Given the description of an element on the screen output the (x, y) to click on. 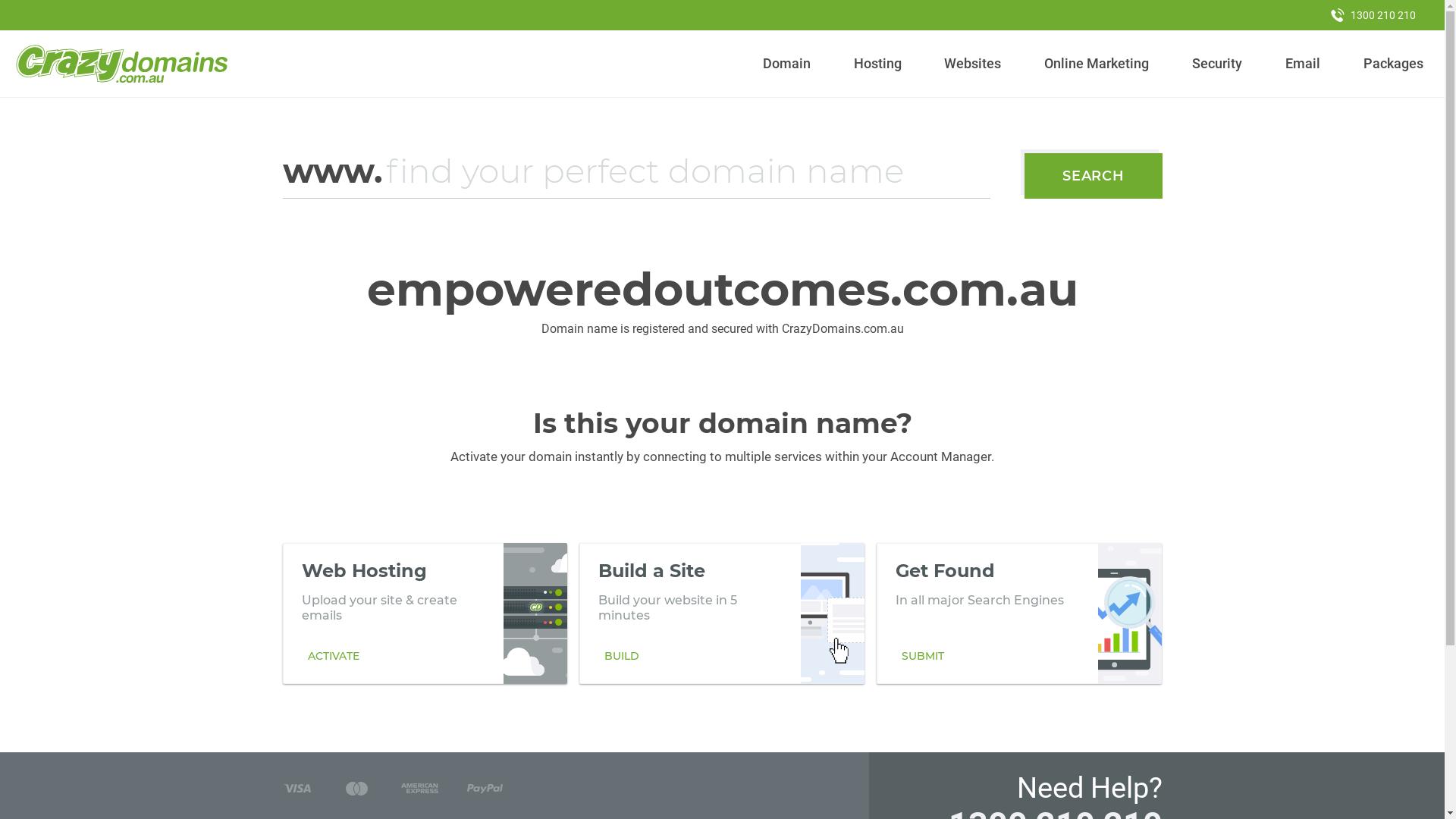
Online Marketing Element type: text (1096, 63)
Packages Element type: text (1392, 63)
Email Element type: text (1302, 63)
Web Hosting
Upload your site & create emails
ACTIVATE Element type: text (424, 613)
Hosting Element type: text (877, 63)
Security Element type: text (1217, 63)
Domain Element type: text (786, 63)
1300 210 210 Element type: text (1373, 15)
Websites Element type: text (972, 63)
Get Found
In all major Search Engines
SUBMIT Element type: text (1018, 613)
Build a Site
Build your website in 5 minutes
BUILD Element type: text (721, 613)
SEARCH Element type: text (1092, 175)
